Given the description of an element on the screen output the (x, y) to click on. 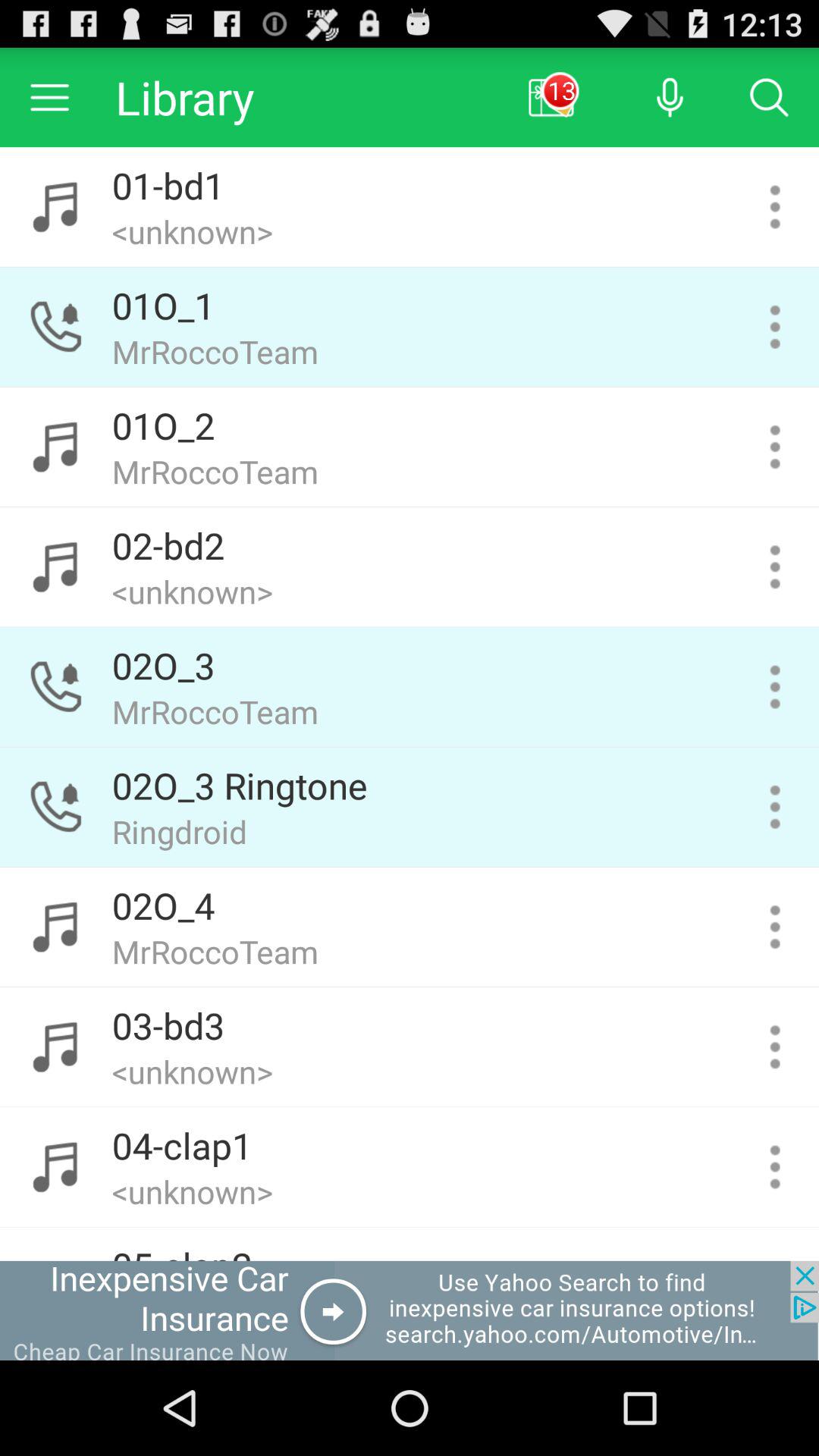
advertisement in the bottom (409, 1310)
